Given the description of an element on the screen output the (x, y) to click on. 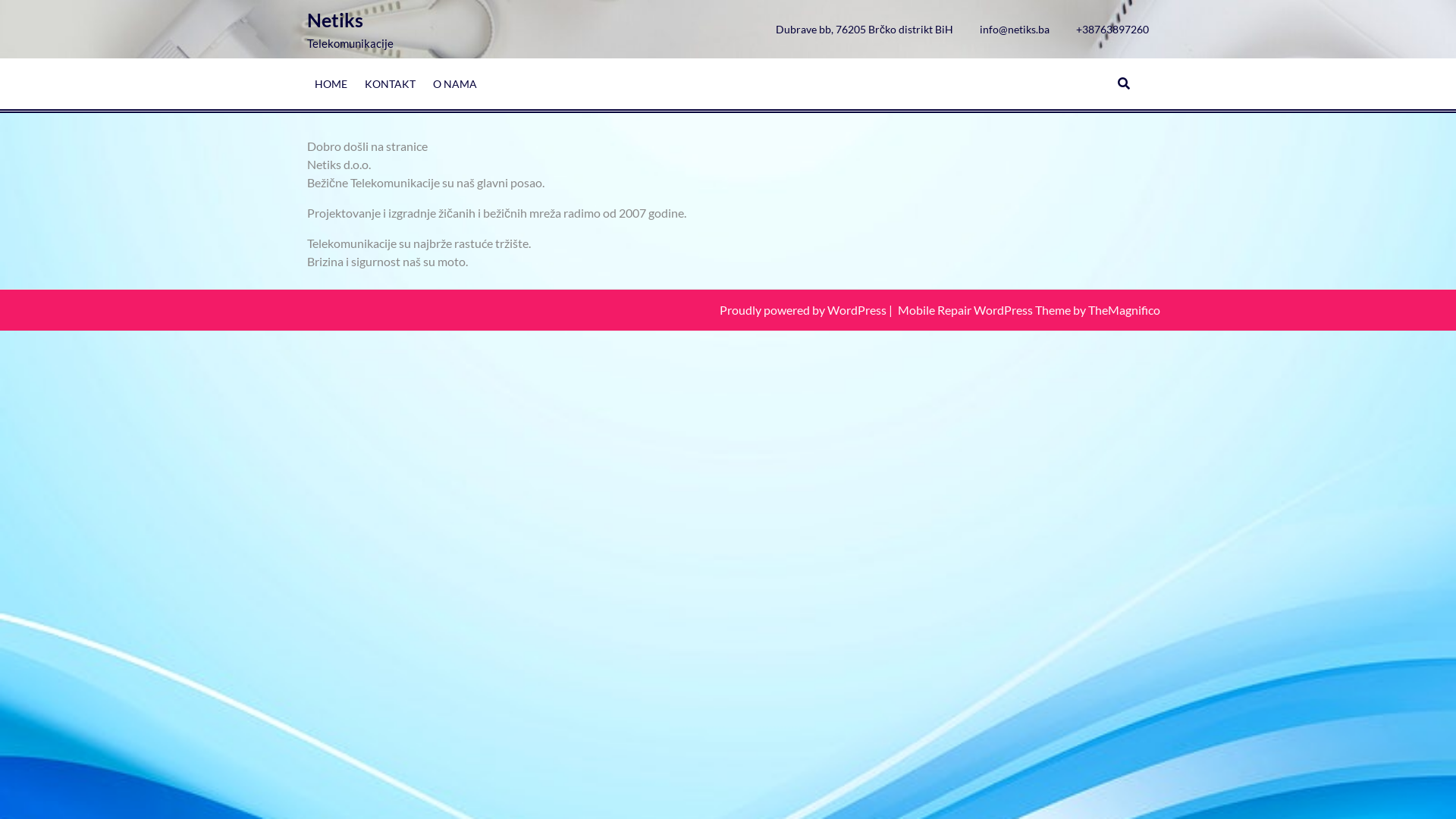
Mobile Repair WordPress Theme by TheMagnifico Element type: text (1028, 308)
Netiks Element type: text (335, 19)
O NAMA Element type: text (454, 82)
HOME Element type: text (330, 82)
KONTAKT Element type: text (390, 82)
Proudly powered by WordPress Element type: text (803, 308)
